Given the description of an element on the screen output the (x, y) to click on. 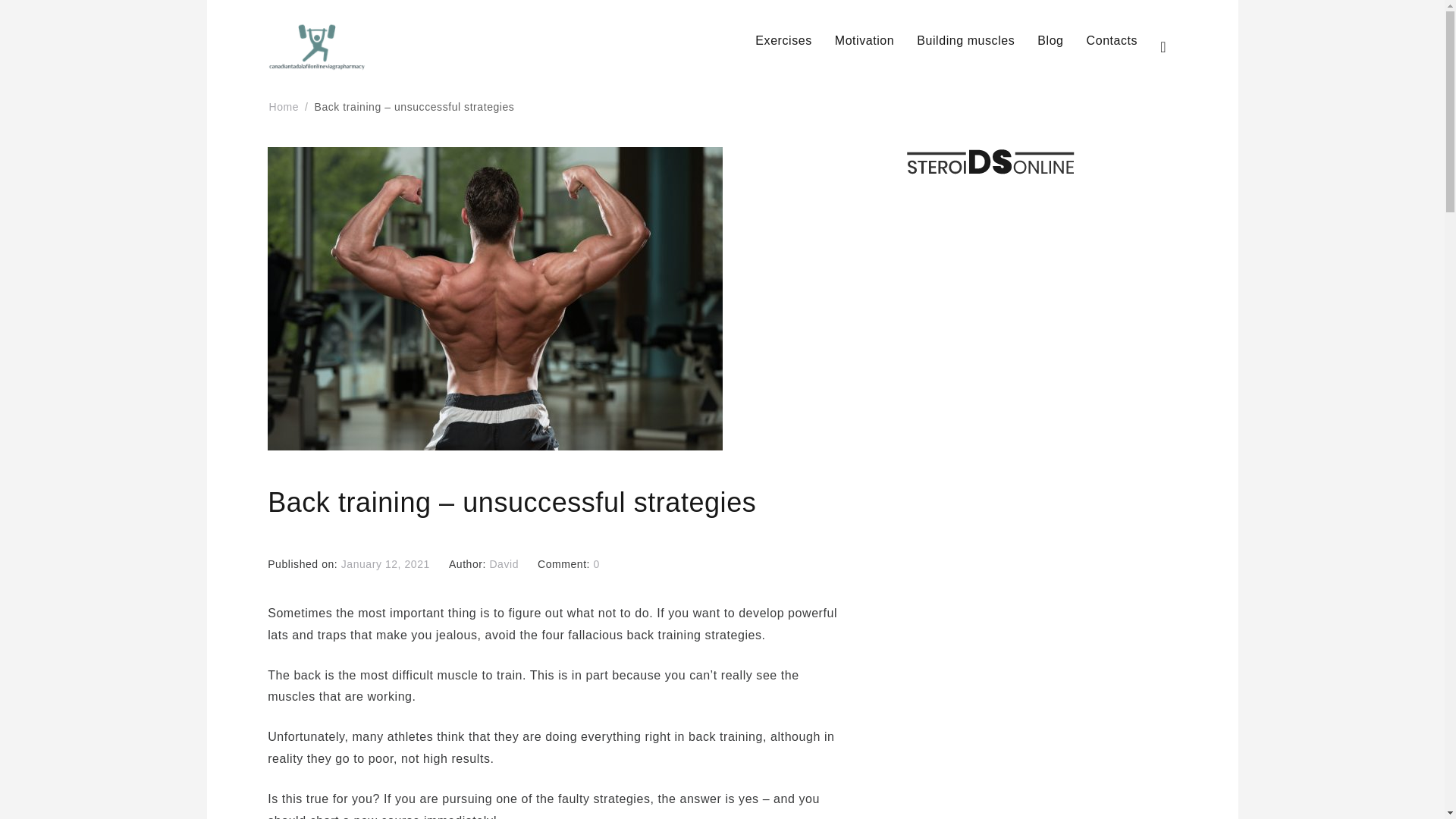
Contacts (1112, 40)
Building muscles (965, 40)
Motivation (864, 40)
Exercises (783, 40)
Blog (1050, 40)
